Given the description of an element on the screen output the (x, y) to click on. 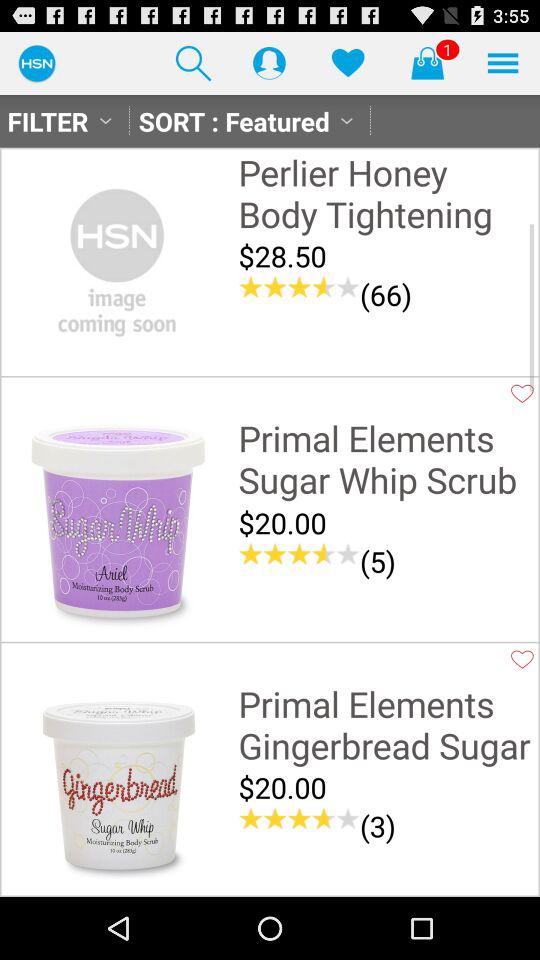
turn off the icon to the left of primal elements sugar (117, 525)
